Given the description of an element on the screen output the (x, y) to click on. 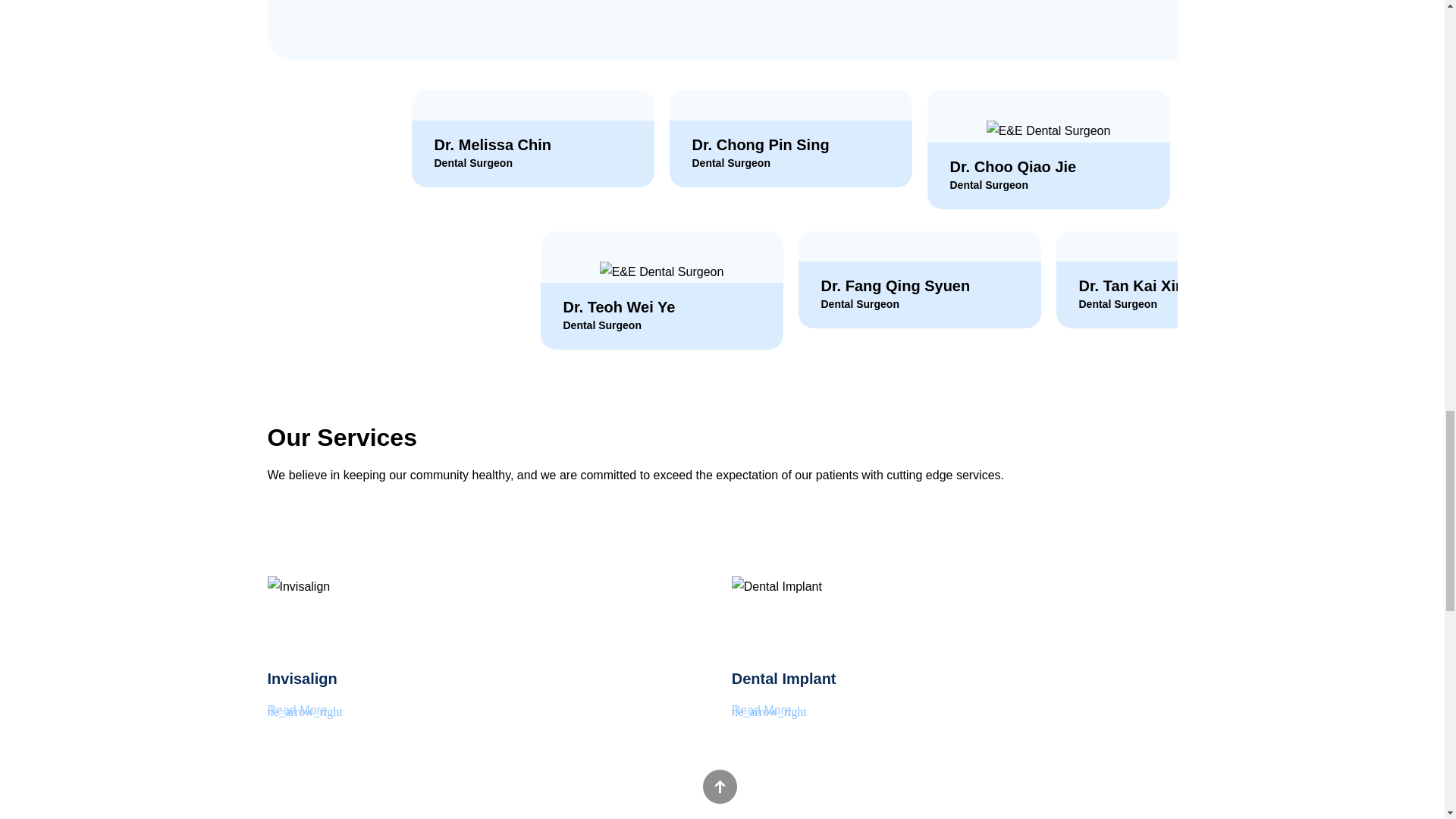
Dental Surgeon (601, 352)
Read More (296, 709)
Dental Surgeon (988, 205)
Dr. Choo Qiao Jie (1012, 189)
Read More (762, 709)
Dr. Teoh Wei Ye (618, 335)
